Given the description of an element on the screen output the (x, y) to click on. 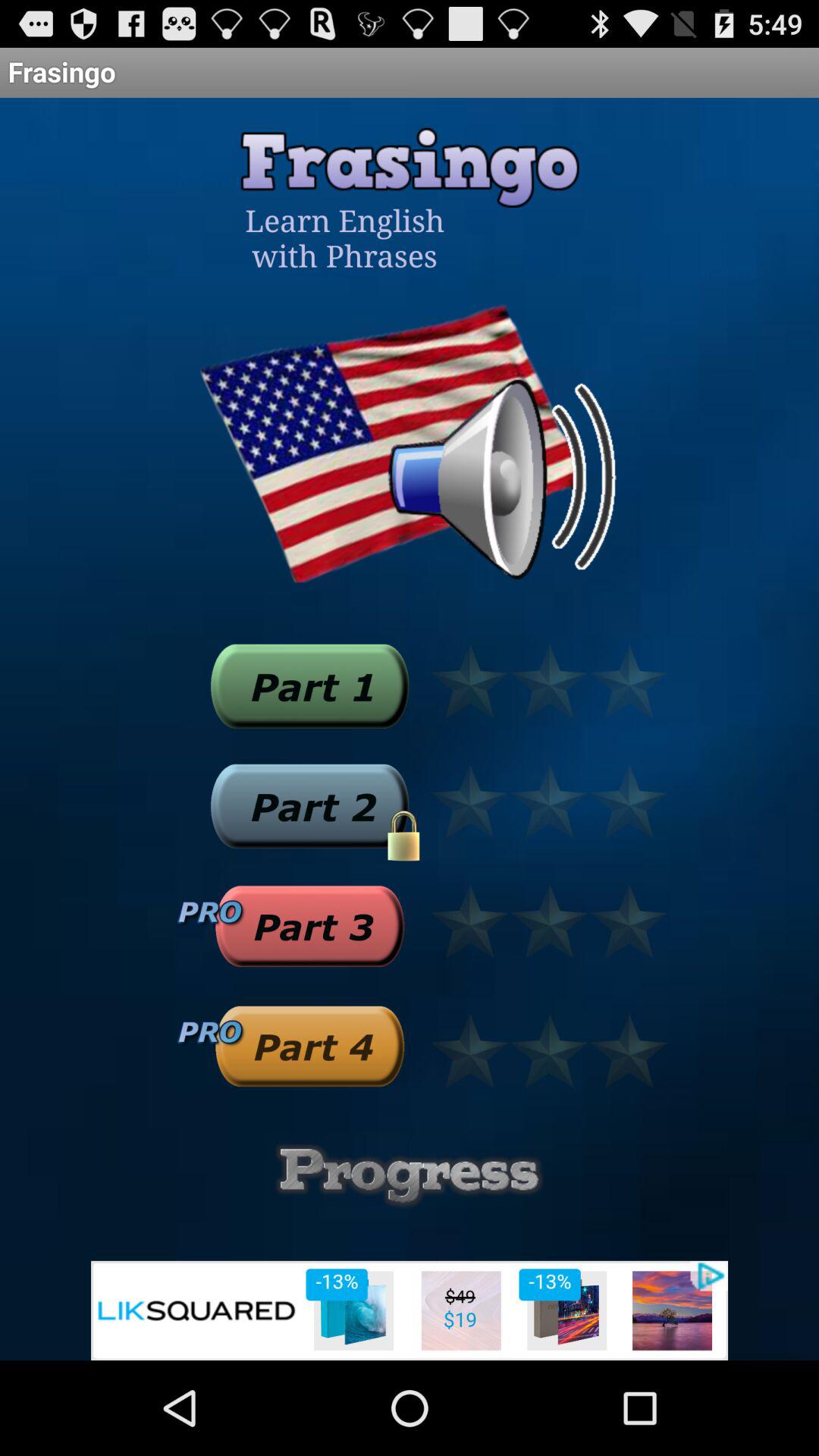
select progress (409, 1175)
